Given the description of an element on the screen output the (x, y) to click on. 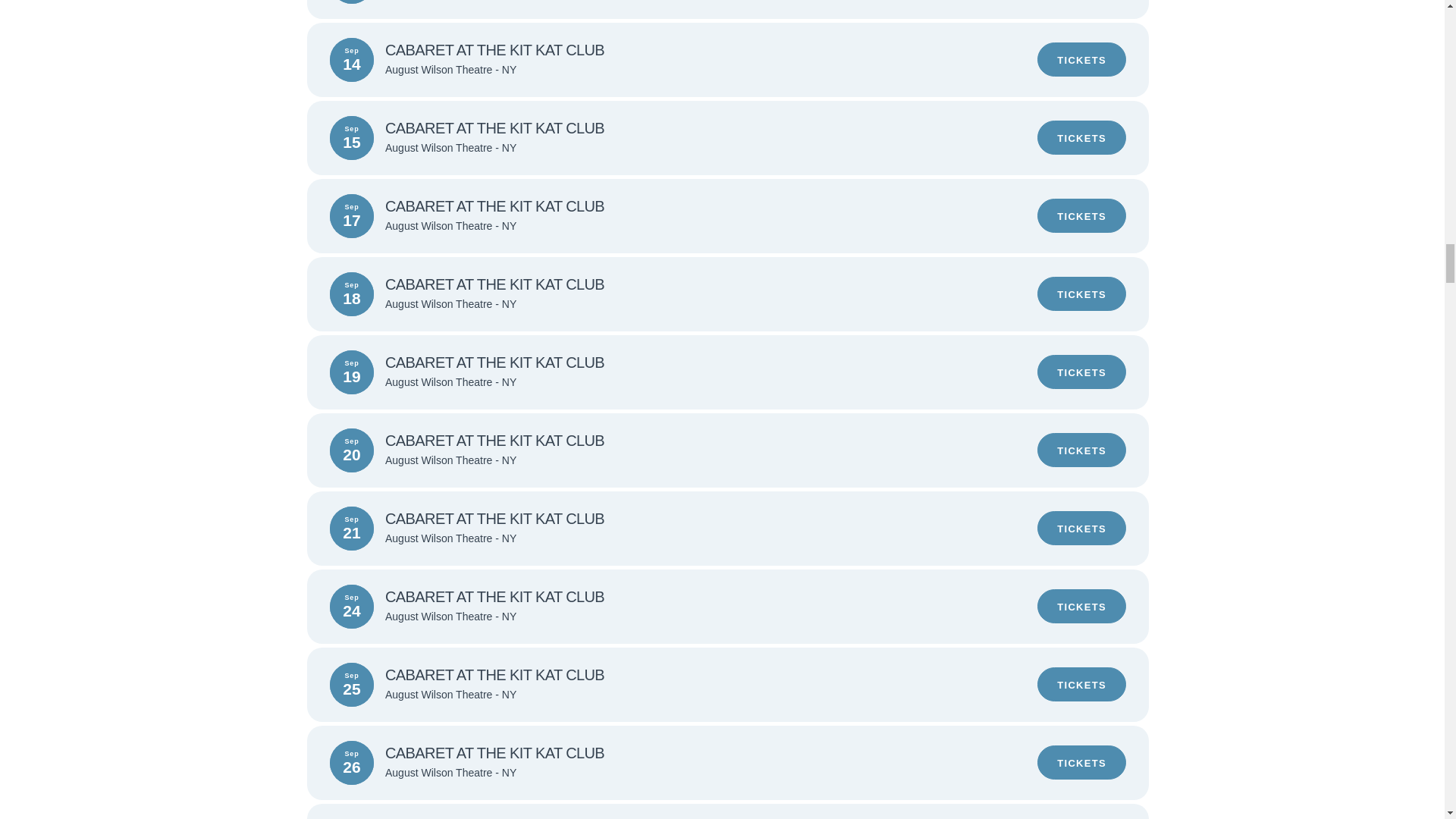
TICKETS (1080, 215)
TICKETS (1080, 371)
TICKETS (1080, 449)
TICKETS (1080, 293)
TICKETS (1080, 137)
TICKETS (1080, 59)
TICKETS (1080, 528)
TICKETS (1080, 605)
